Given the description of an element on the screen output the (x, y) to click on. 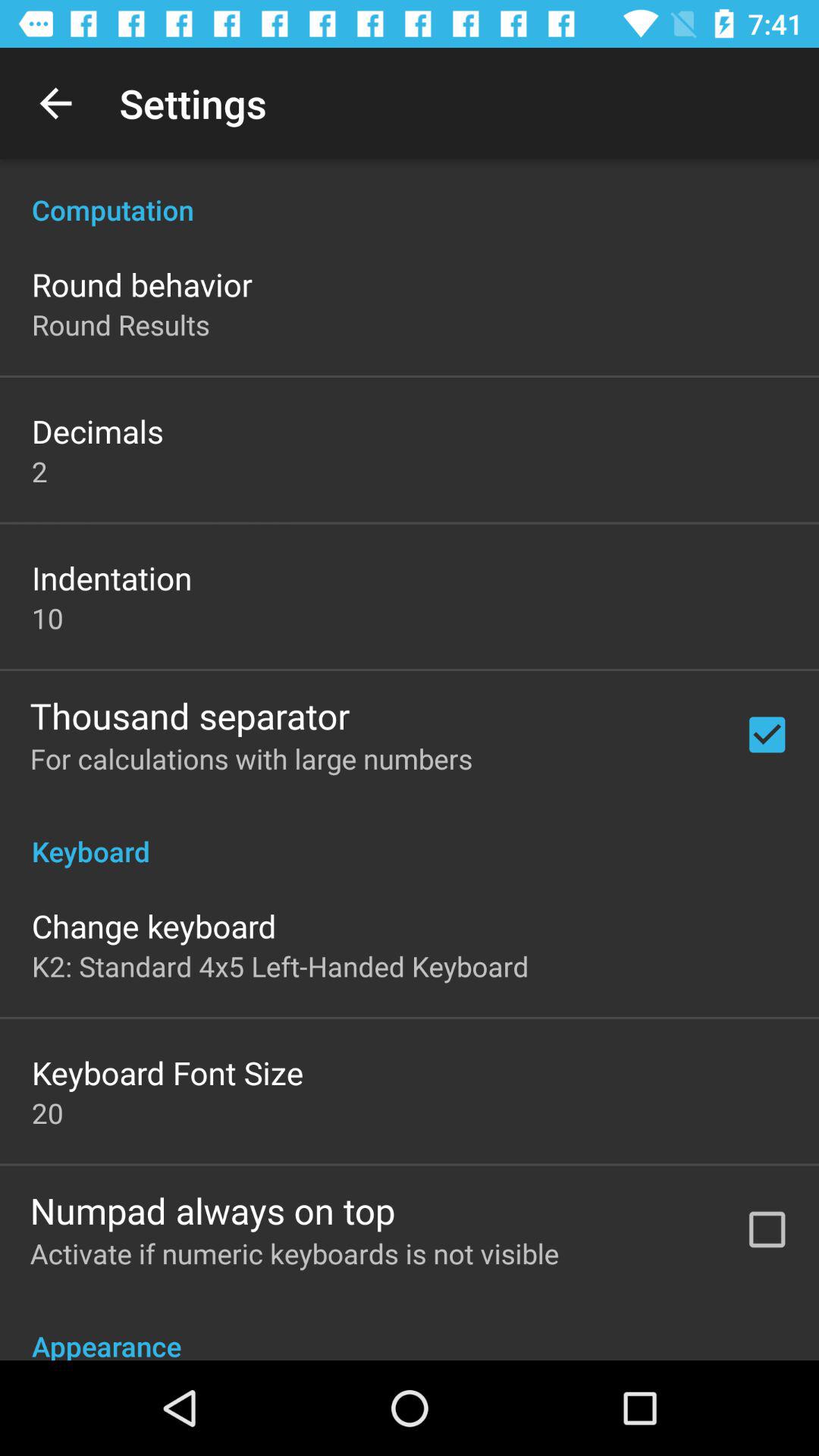
select the item above numpad always on icon (47, 1112)
